Given the description of an element on the screen output the (x, y) to click on. 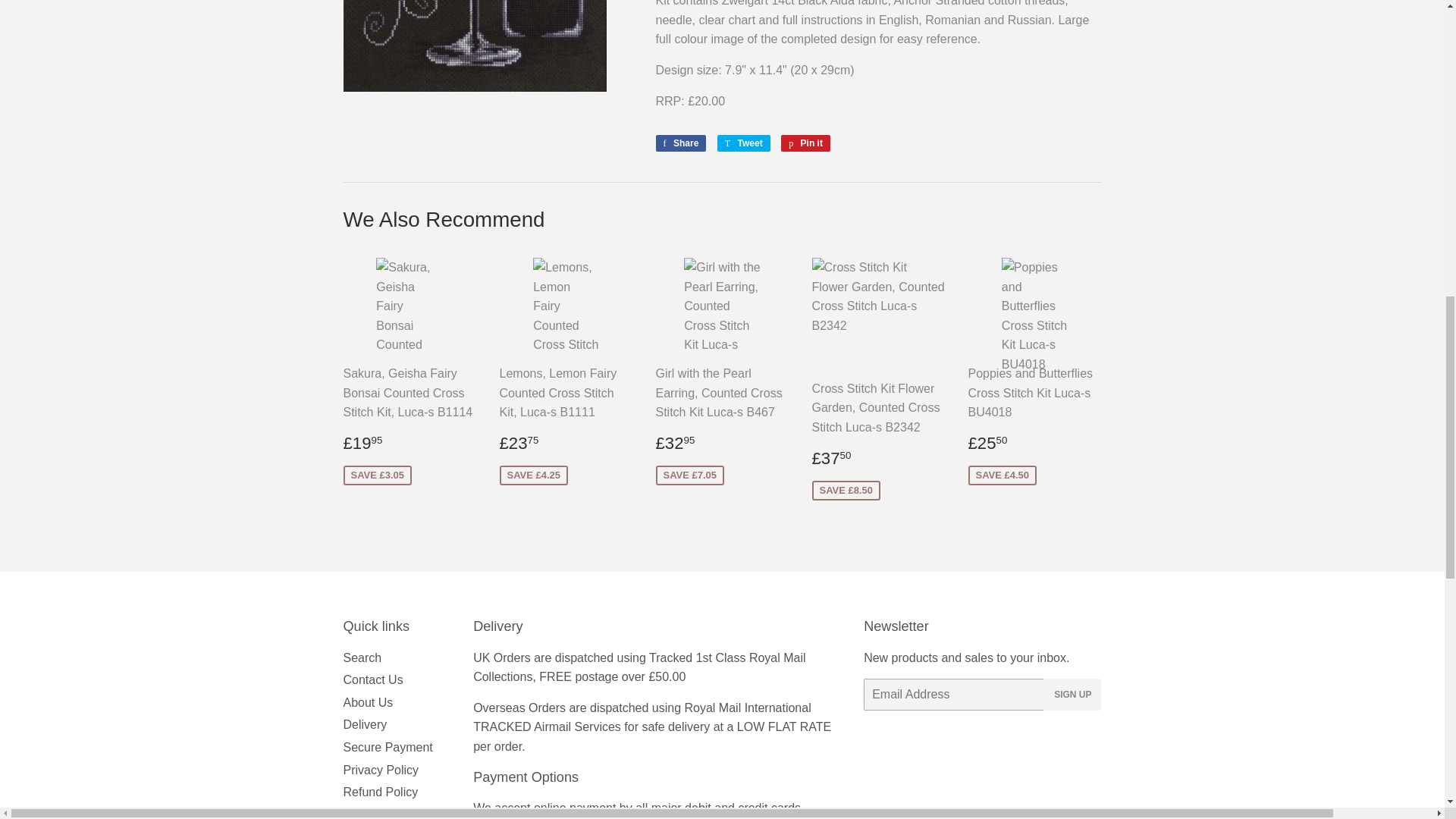
Tweet on Twitter (743, 143)
Pin on Pinterest (804, 143)
Share on Facebook (680, 143)
